Given the description of an element on the screen output the (x, y) to click on. 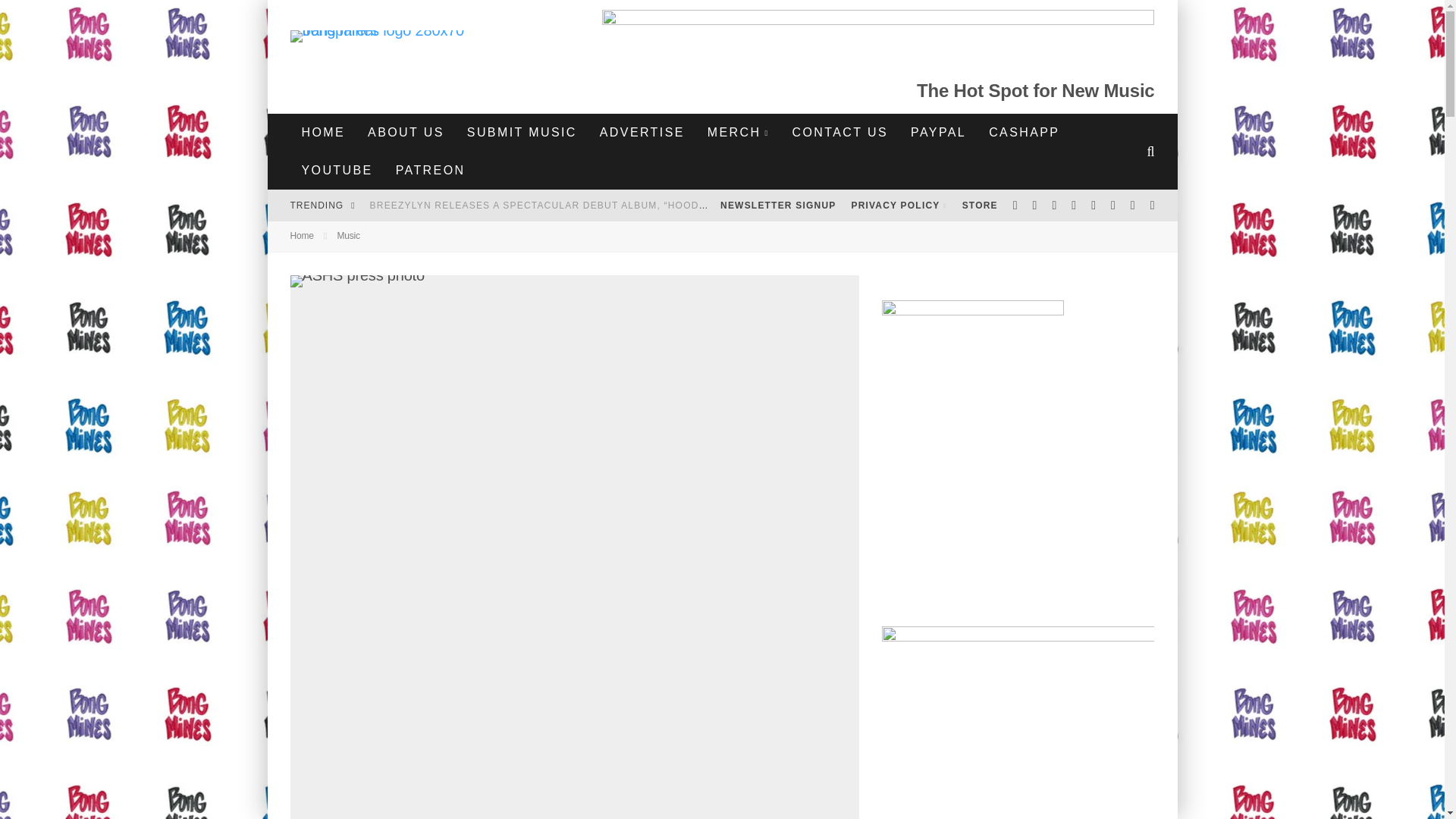
PATREON (430, 170)
YOUTUBE (336, 170)
PAYPAL (937, 132)
HOME (322, 132)
NEWSLETTER SIGNUP (778, 205)
ADVERTISE (641, 132)
PRIVACY POLICY (898, 205)
SUBMIT MUSIC (521, 132)
MERCH (737, 132)
CASHAPP (1023, 132)
ABOUT US (405, 132)
STORE (980, 205)
CONTACT US (839, 132)
